Given the description of an element on the screen output the (x, y) to click on. 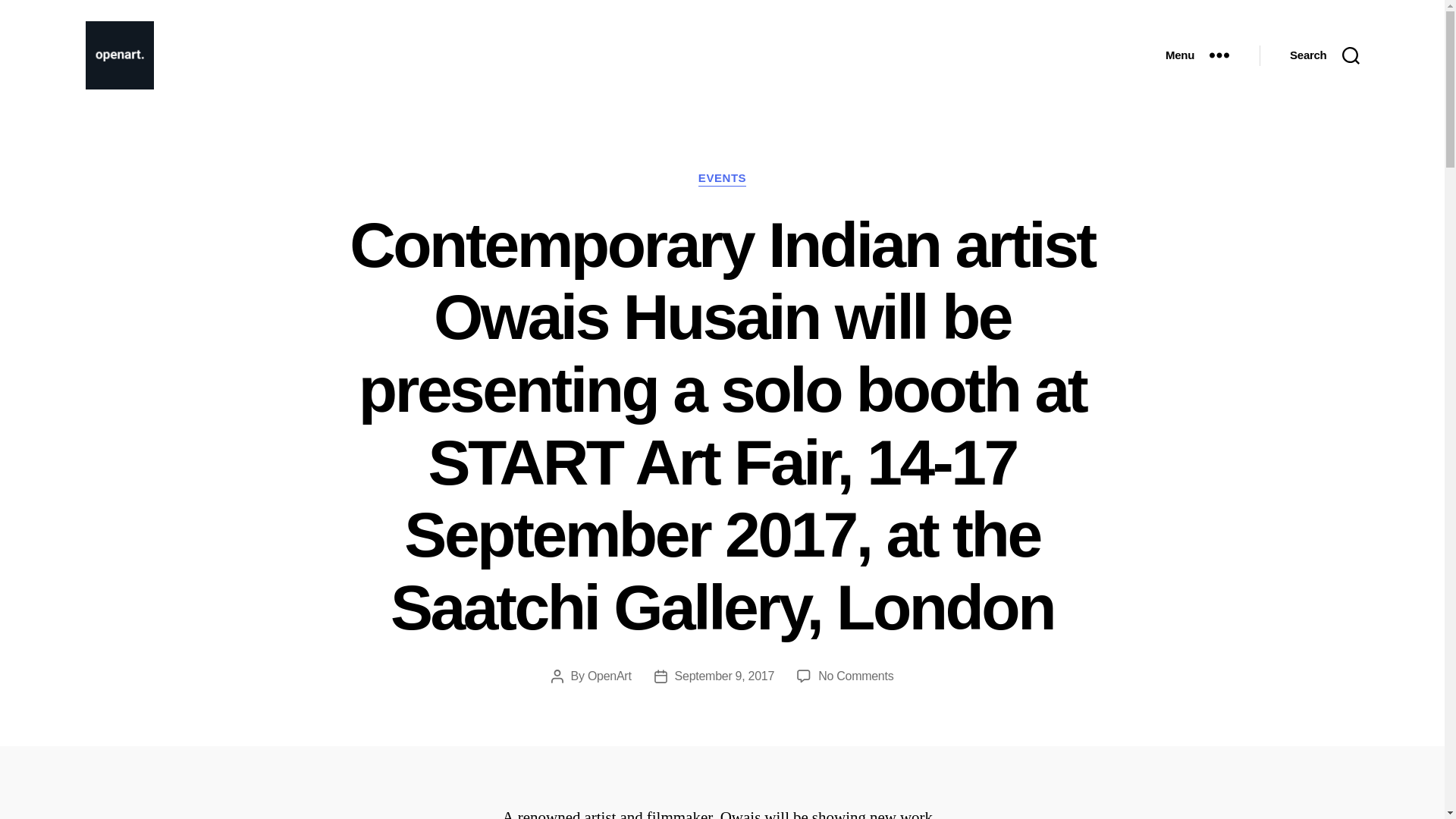
Search (1324, 55)
Menu (1197, 55)
OpenArt (609, 675)
EVENTS (721, 178)
September 9, 2017 (724, 675)
